Given the description of an element on the screen output the (x, y) to click on. 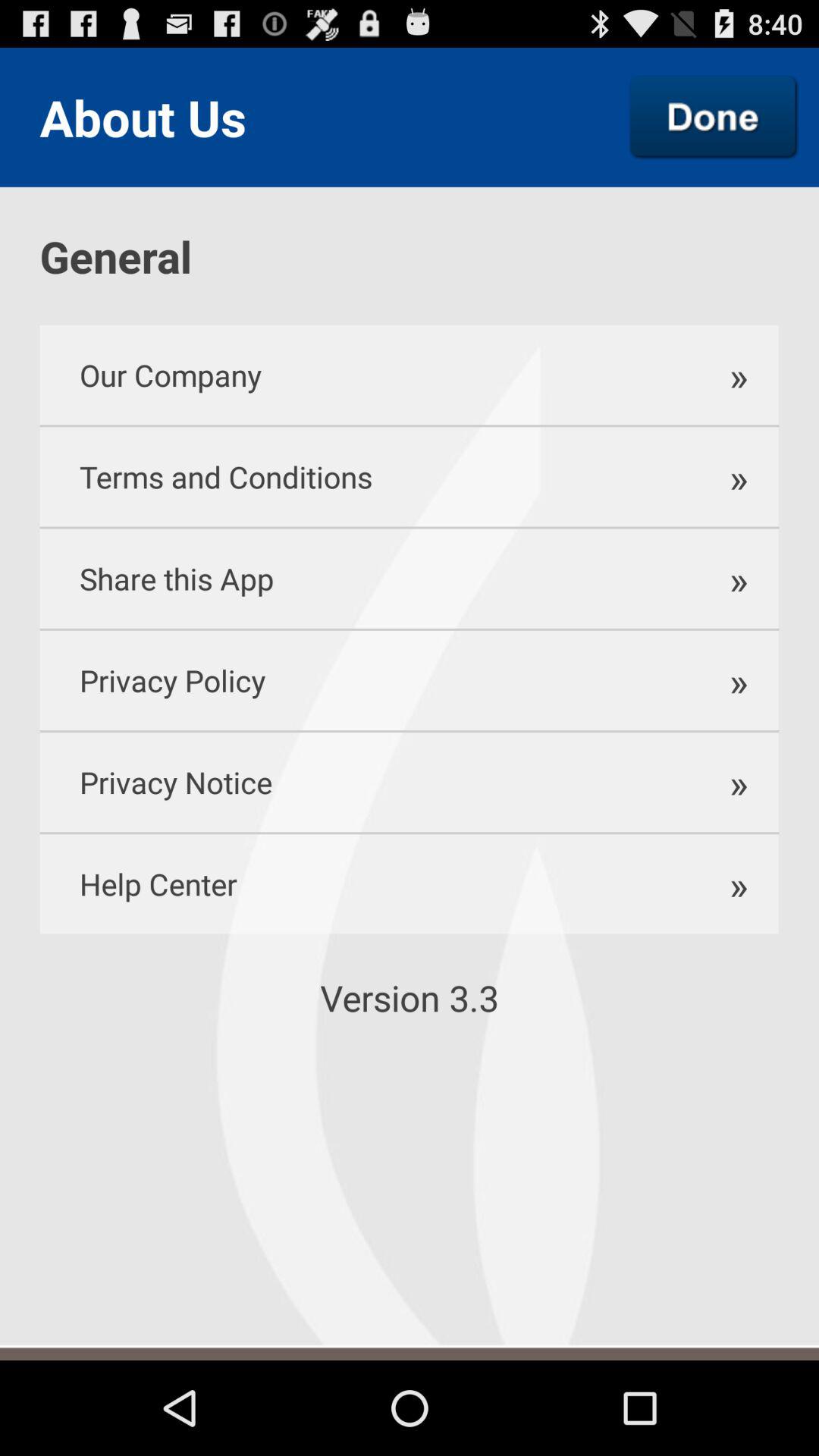
choose icon next to share this app button (731, 578)
